Given the description of an element on the screen output the (x, y) to click on. 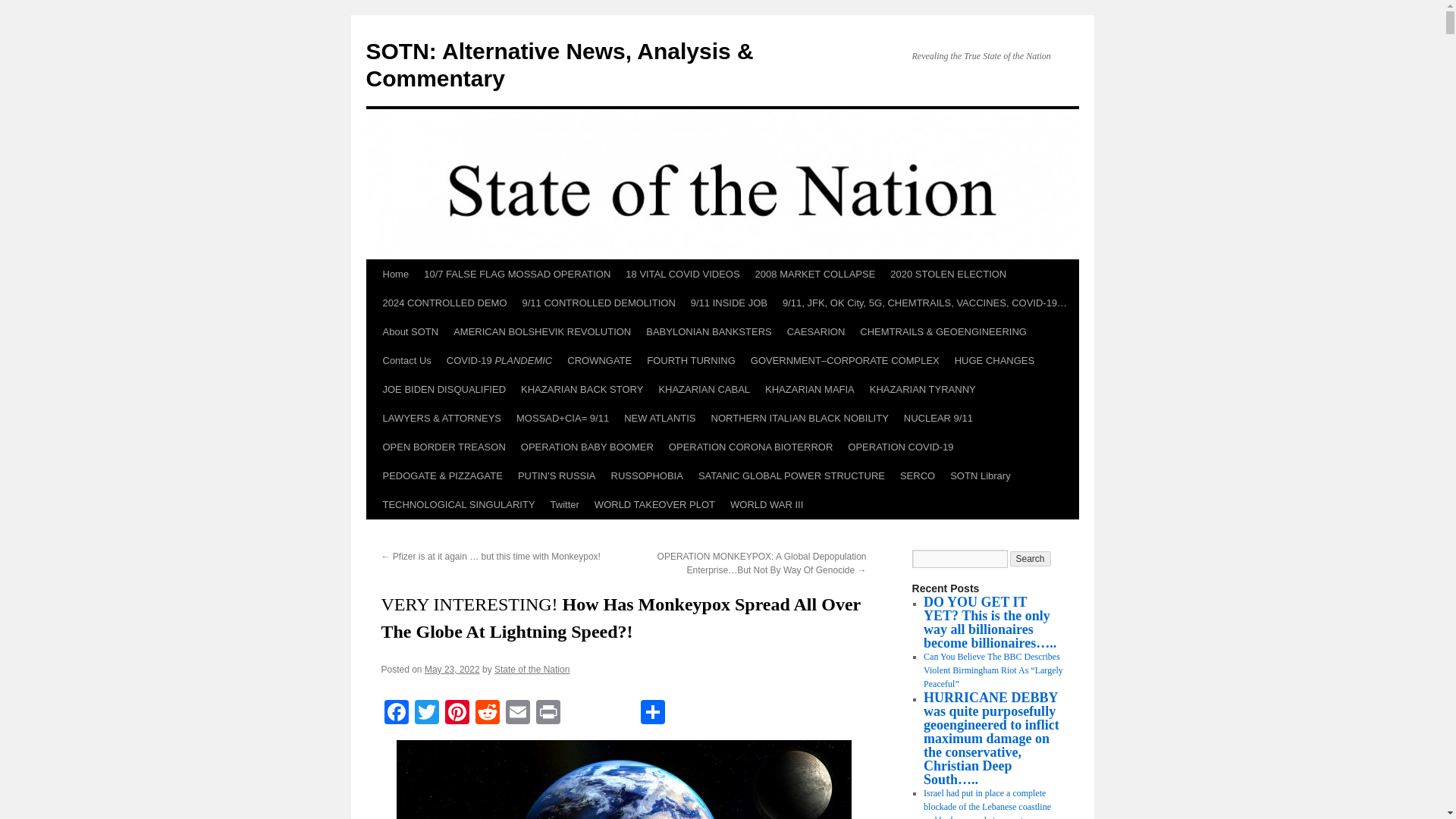
Twitter (425, 714)
KHAZARIAN CABAL (703, 389)
OPERATION COVID-19 (900, 447)
2008 MARKET COLLAPSE (815, 274)
KHAZARIAN TYRANNY (922, 389)
CAESARION (815, 331)
NORTHERN ITALIAN BLACK NOBILITY (799, 418)
KHAZARIAN BACK STORY (581, 389)
4:29 pm (452, 669)
JOE BIDEN DISQUALIFIED (443, 389)
